Given the description of an element on the screen output the (x, y) to click on. 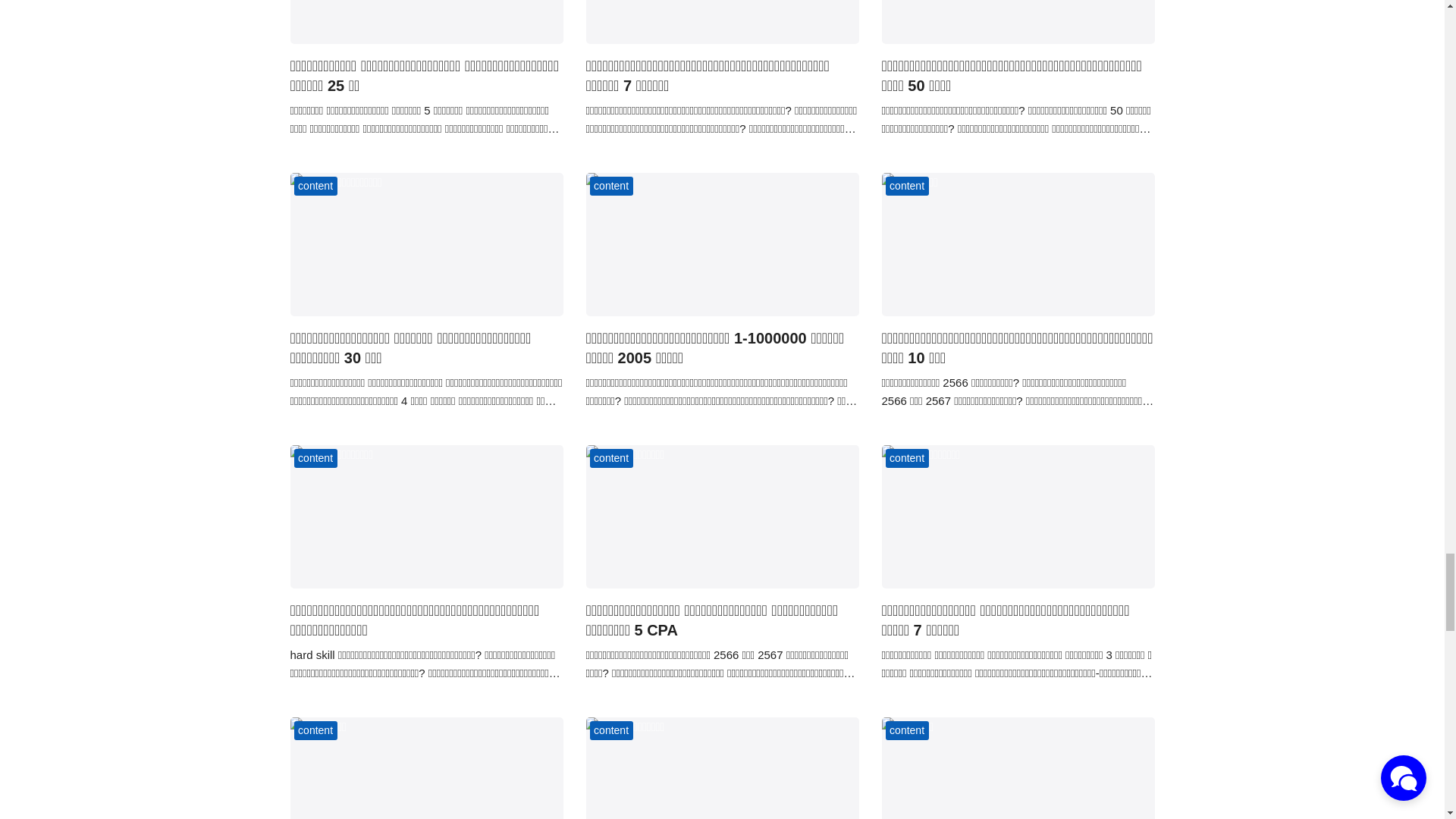
content (611, 185)
content (315, 185)
content (906, 185)
content (906, 457)
content (315, 457)
content (611, 457)
